Given the description of an element on the screen output the (x, y) to click on. 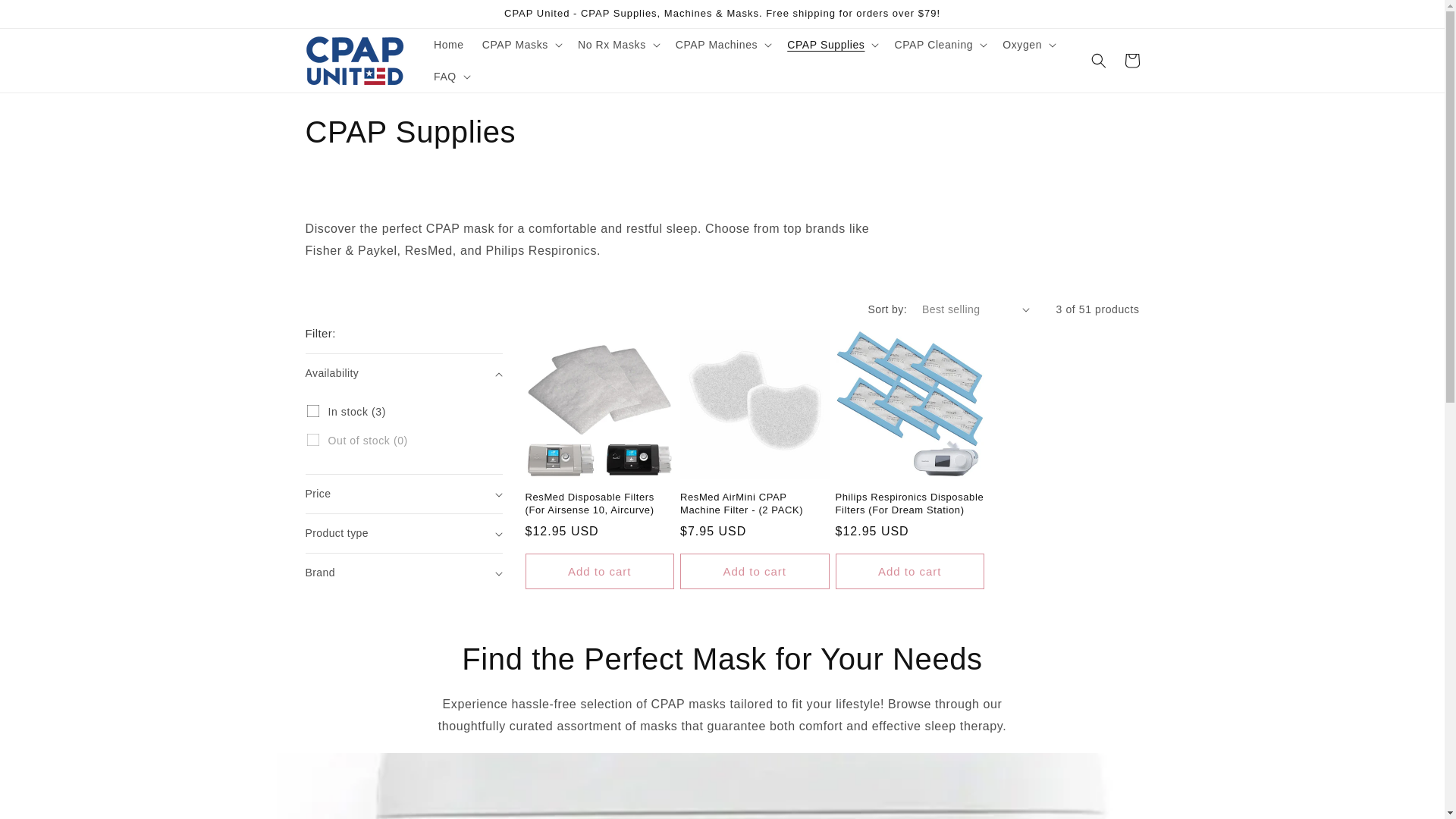
Home (449, 44)
1 (311, 410)
0 (311, 439)
Skip to content (45, 17)
